Given the description of an element on the screen output the (x, y) to click on. 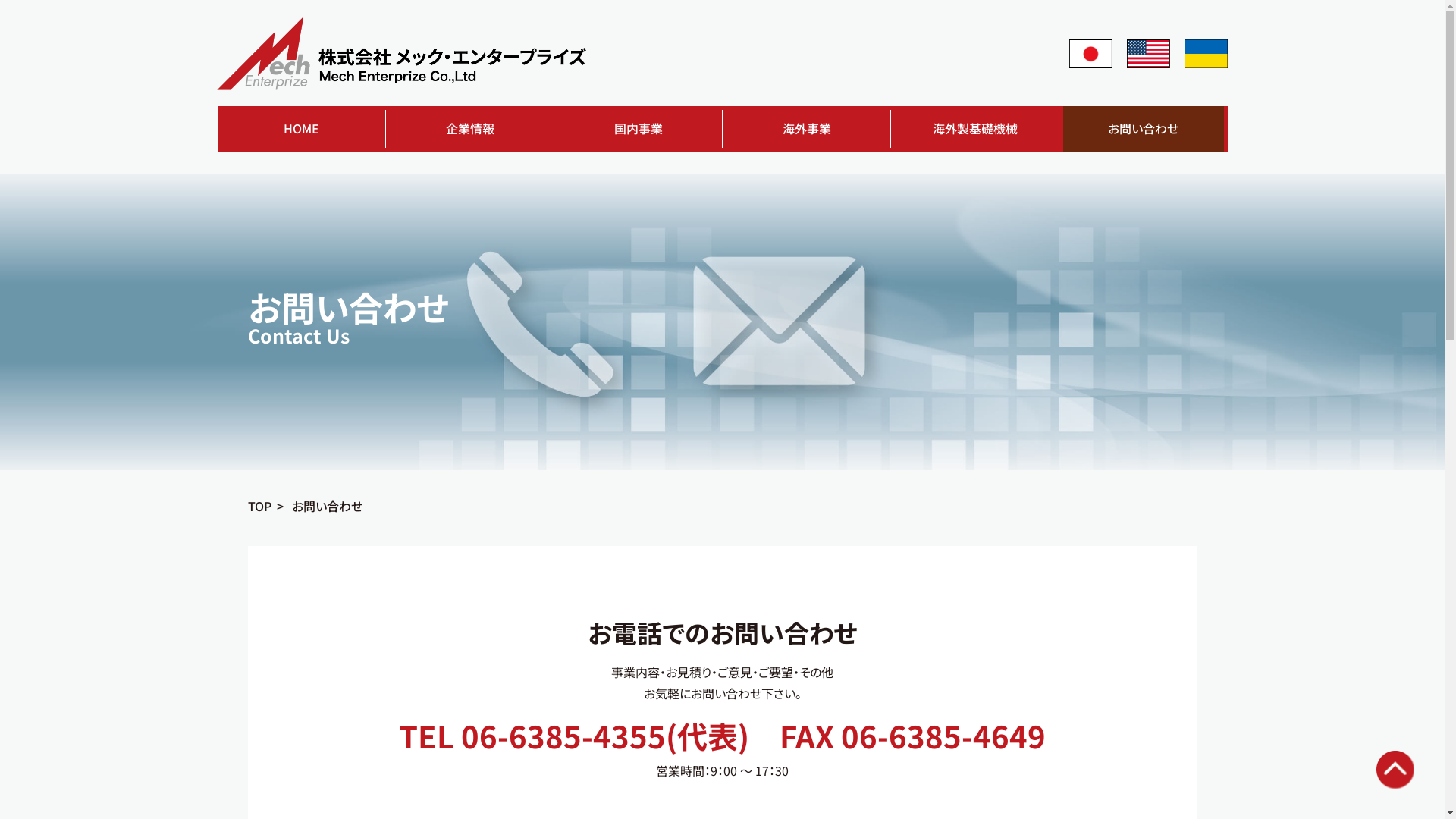
HOME Element type: text (301, 128)
TOP Element type: text (258, 505)
06-6385-4355 Element type: text (563, 735)
